Given the description of an element on the screen output the (x, y) to click on. 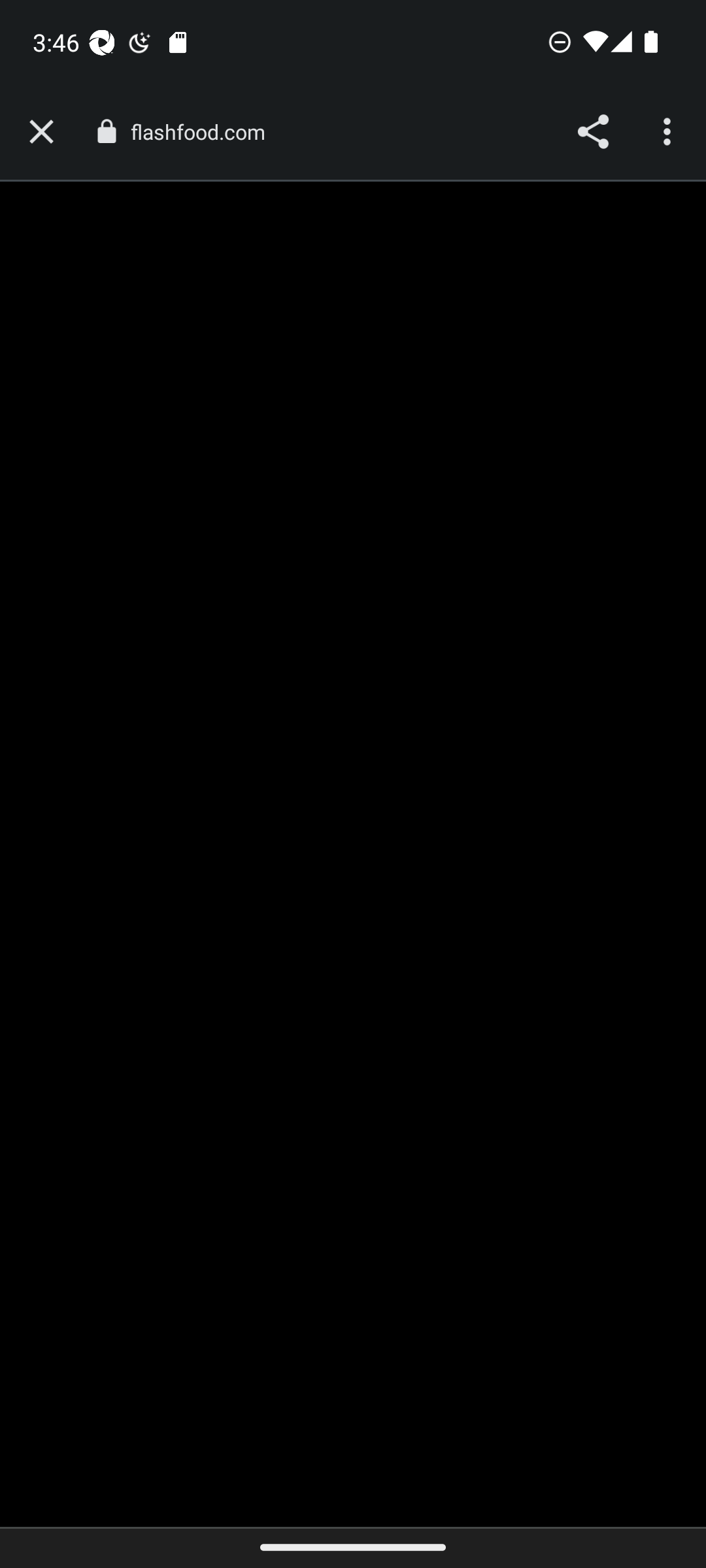
Close tab (41, 131)
Share (592, 131)
More options (669, 131)
Connection is secure (106, 131)
flashfood.com (204, 131)
